Given the description of an element on the screen output the (x, y) to click on. 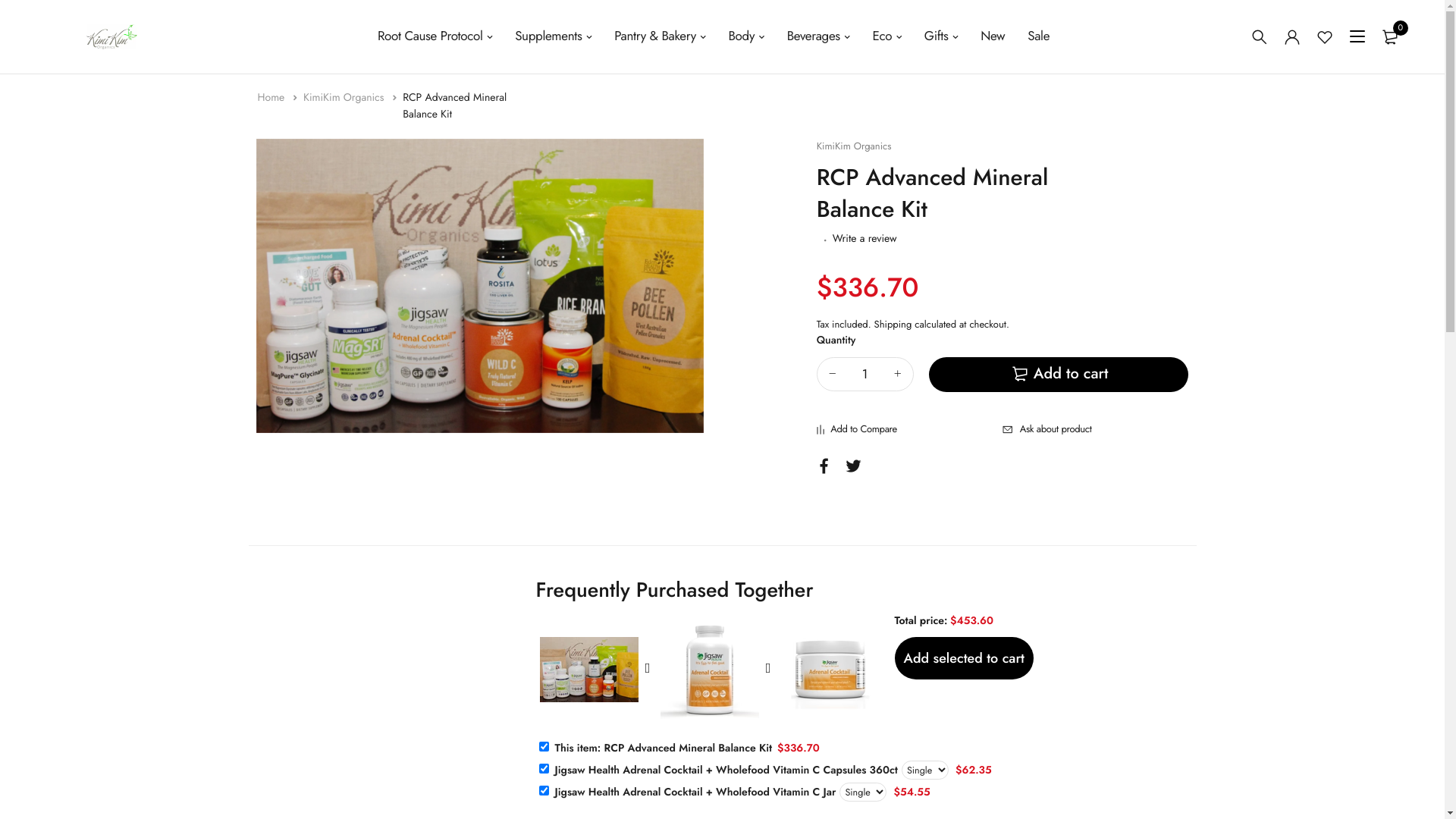
Jigsaw Health Adrenal Cocktail + Wholefood Vitamin C Jar Element type: text (692, 792)
RCP Advanced Mineral
Balance Kit Element type: text (454, 106)
Home Element type: text (272, 97)
Pantry & Bakery Element type: text (659, 36)
Add to Compare Element type: text (909, 429)
Shipping Element type: text (893, 323)
Supplements Element type: text (552, 36)
Ask about product Element type: text (1095, 429)
KimiKim Organics Element type: text (345, 97)
Beverages Element type: text (818, 36)
Root Cause Protocol Element type: text (434, 36)
Write a review Element type: text (864, 238)
Eco Element type: text (886, 36)
Add selected to cart Element type: text (963, 658)
Body Element type: text (745, 36)
0 Element type: text (1388, 35)
New Element type: text (992, 36)
Gifts Element type: text (940, 36)
Sale Element type: text (1038, 36)
Add to cart Element type: text (1058, 374)
